Given the description of an element on the screen output the (x, y) to click on. 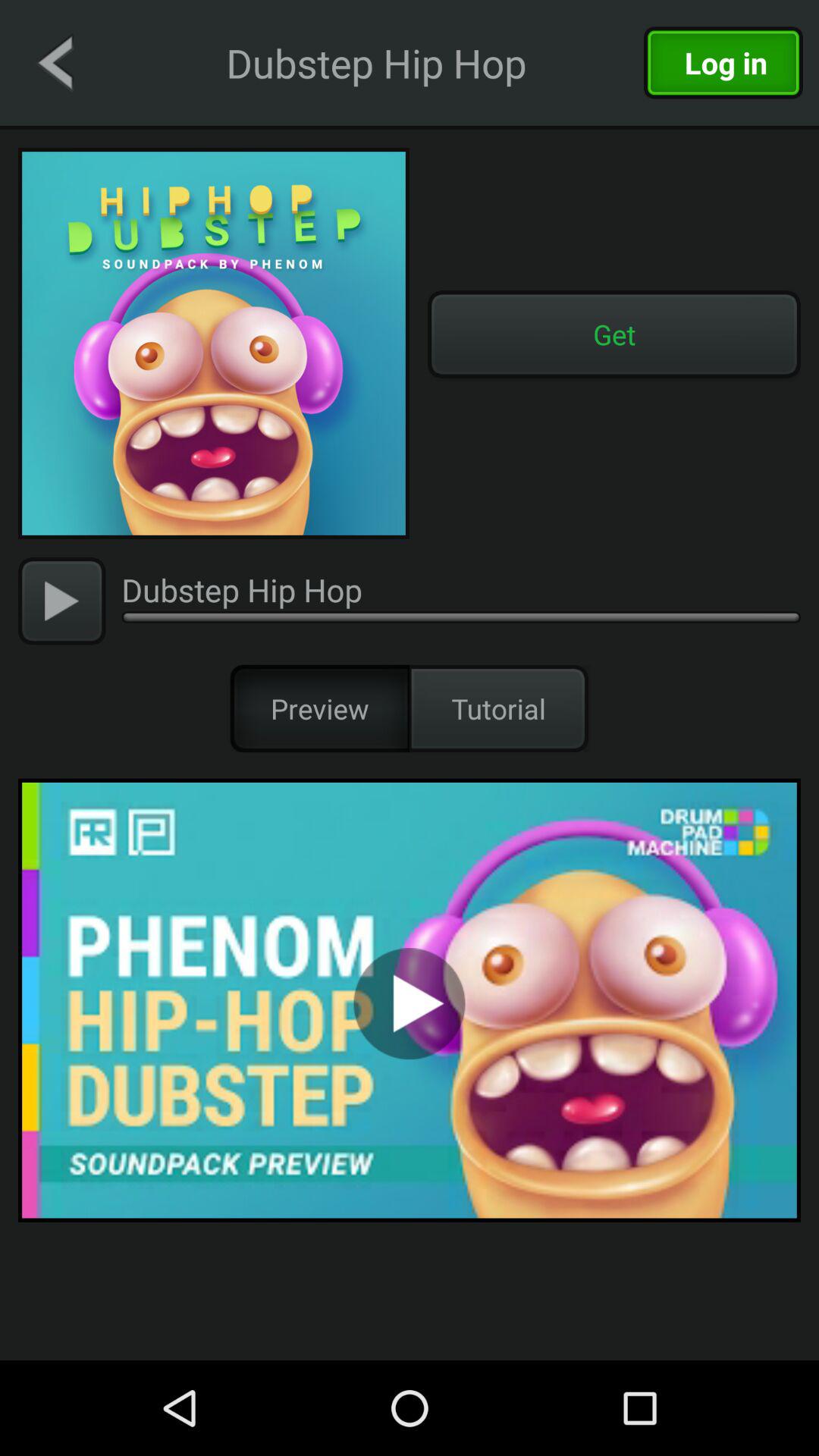
click the tutorial item (498, 708)
